Given the description of an element on the screen output the (x, y) to click on. 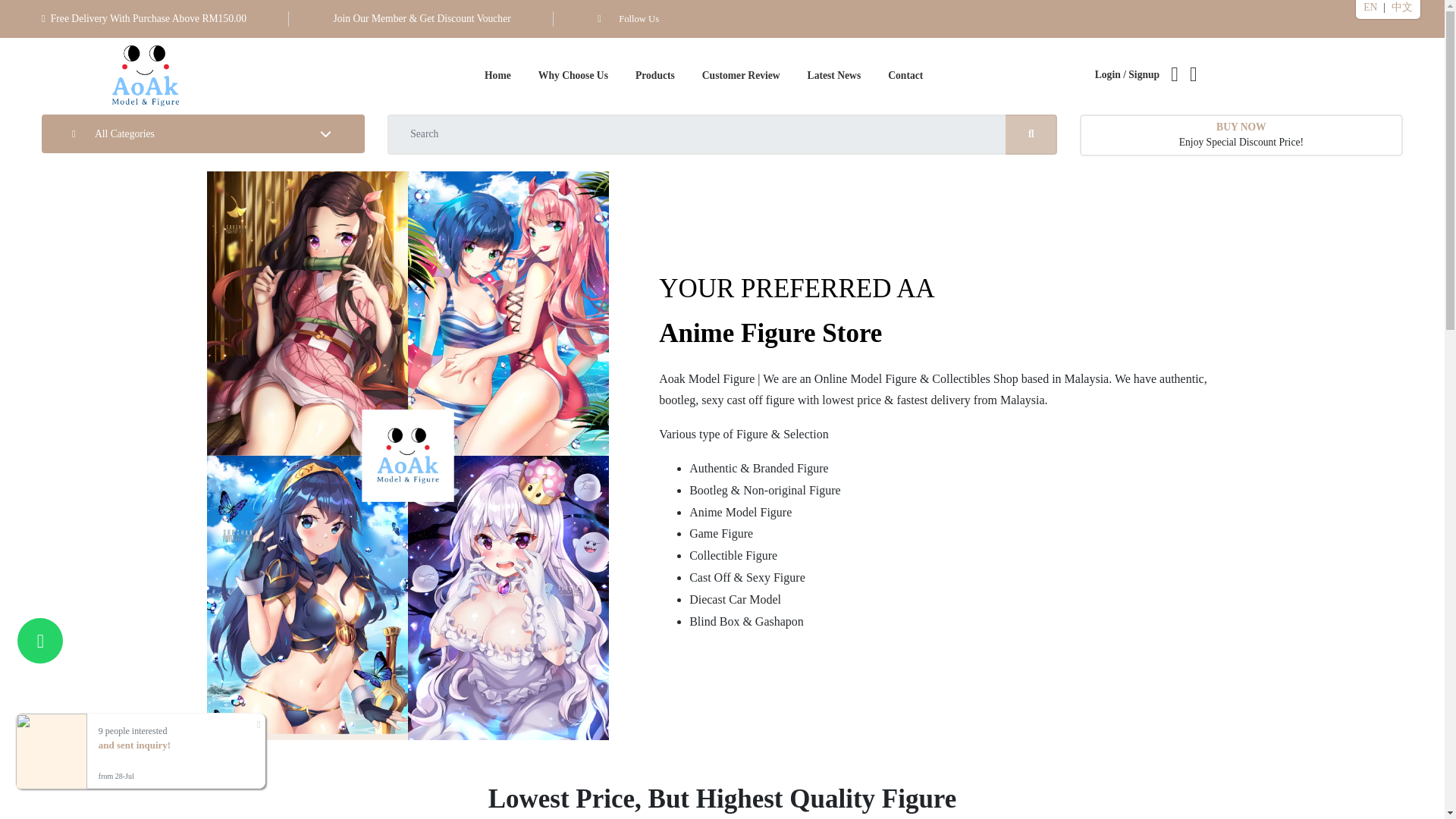
Aoak Figure Store (145, 75)
Latest News (834, 75)
Customer Review (740, 75)
Why Choose Us (572, 75)
Latest News (834, 75)
Why Choose Us (1240, 135)
All Categories (572, 75)
Customer Review (203, 133)
  Free Delivery With Purchase Above RM150.00 (740, 75)
